Given the description of an element on the screen output the (x, y) to click on. 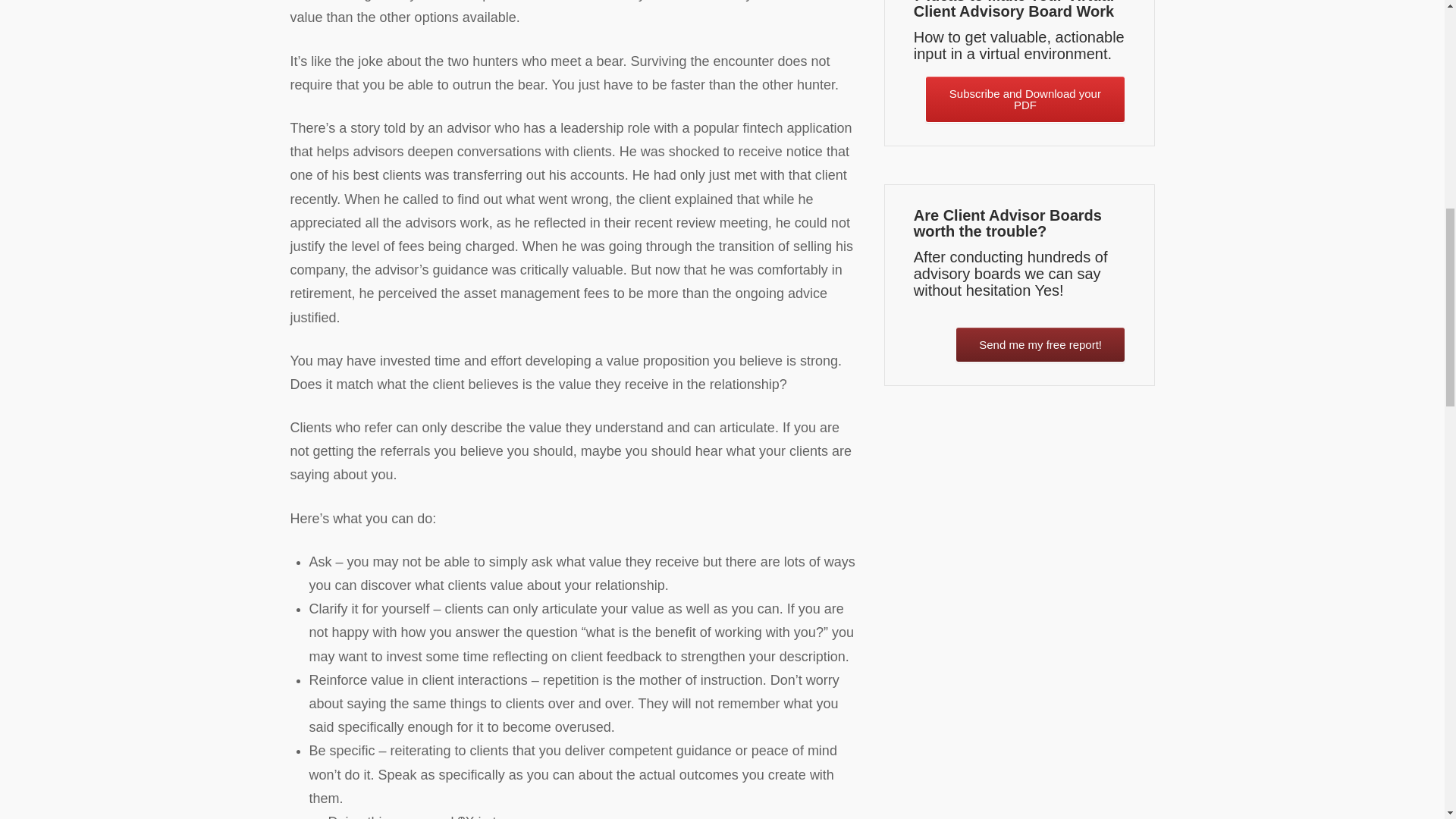
Send me my free report! (1040, 344)
Subscribe and Download your PDF (1024, 99)
